Given the description of an element on the screen output the (x, y) to click on. 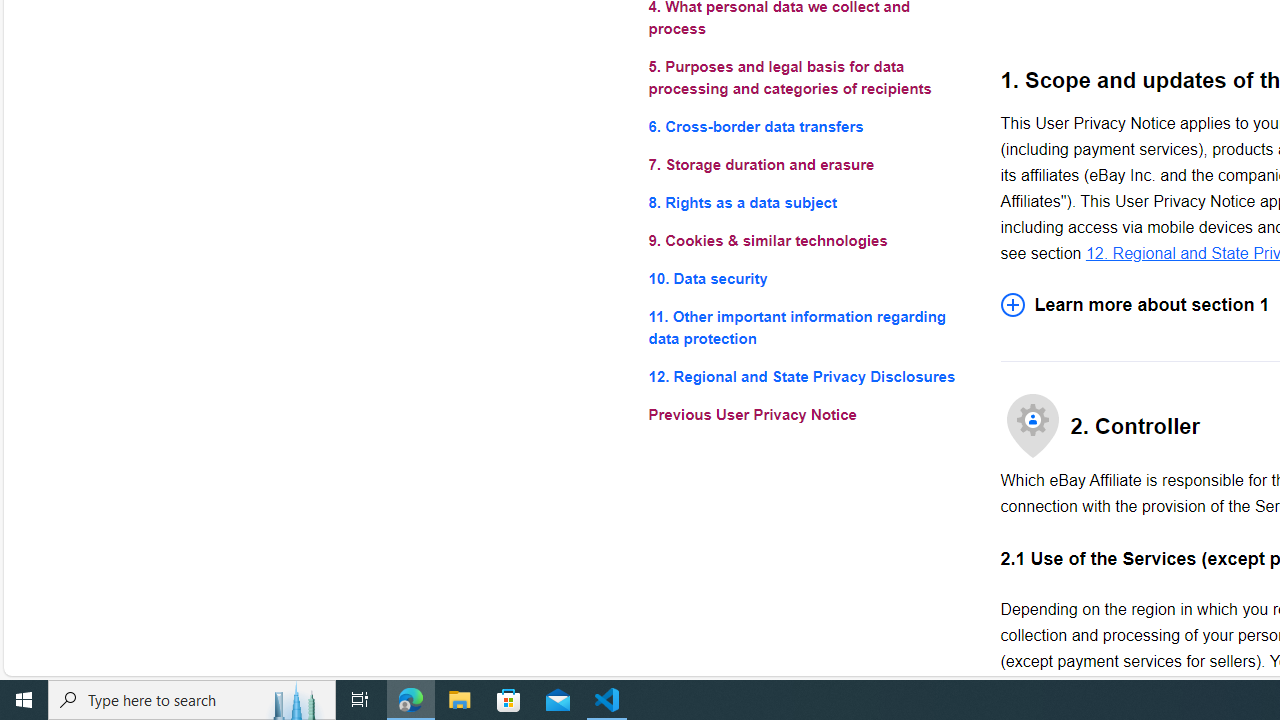
10. Data security (807, 278)
7. Storage duration and erasure (807, 164)
